Given the description of an element on the screen output the (x, y) to click on. 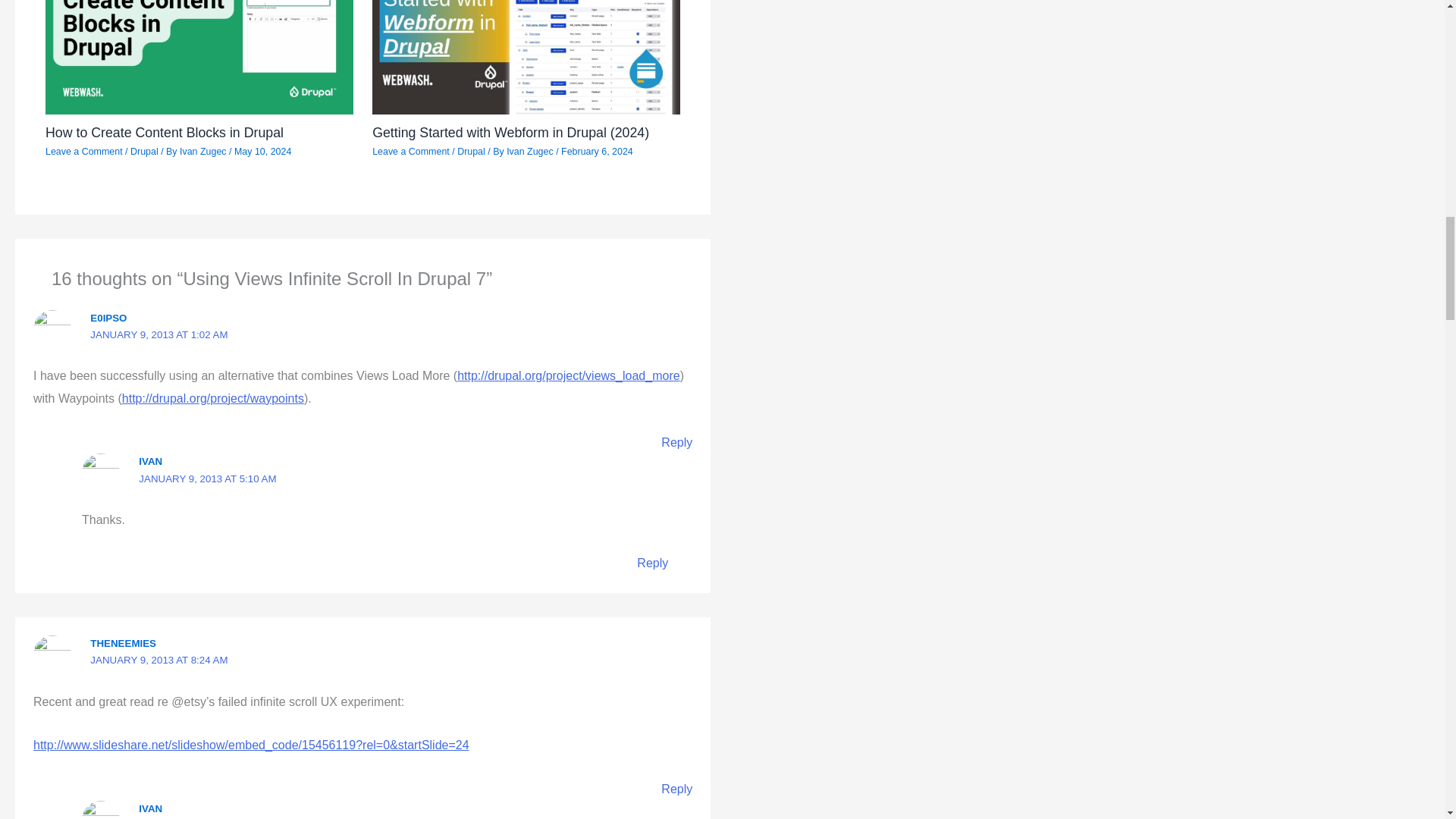
Ivan Zugec (203, 151)
Leave a Comment (410, 151)
Drupal (470, 151)
Drupal (144, 151)
Leave a Comment (83, 151)
Ivan Zugec (531, 151)
How to Create Content Blocks in Drupal (164, 132)
View all posts by Ivan Zugec (531, 151)
View all posts by Ivan Zugec (203, 151)
